Given the description of an element on the screen output the (x, y) to click on. 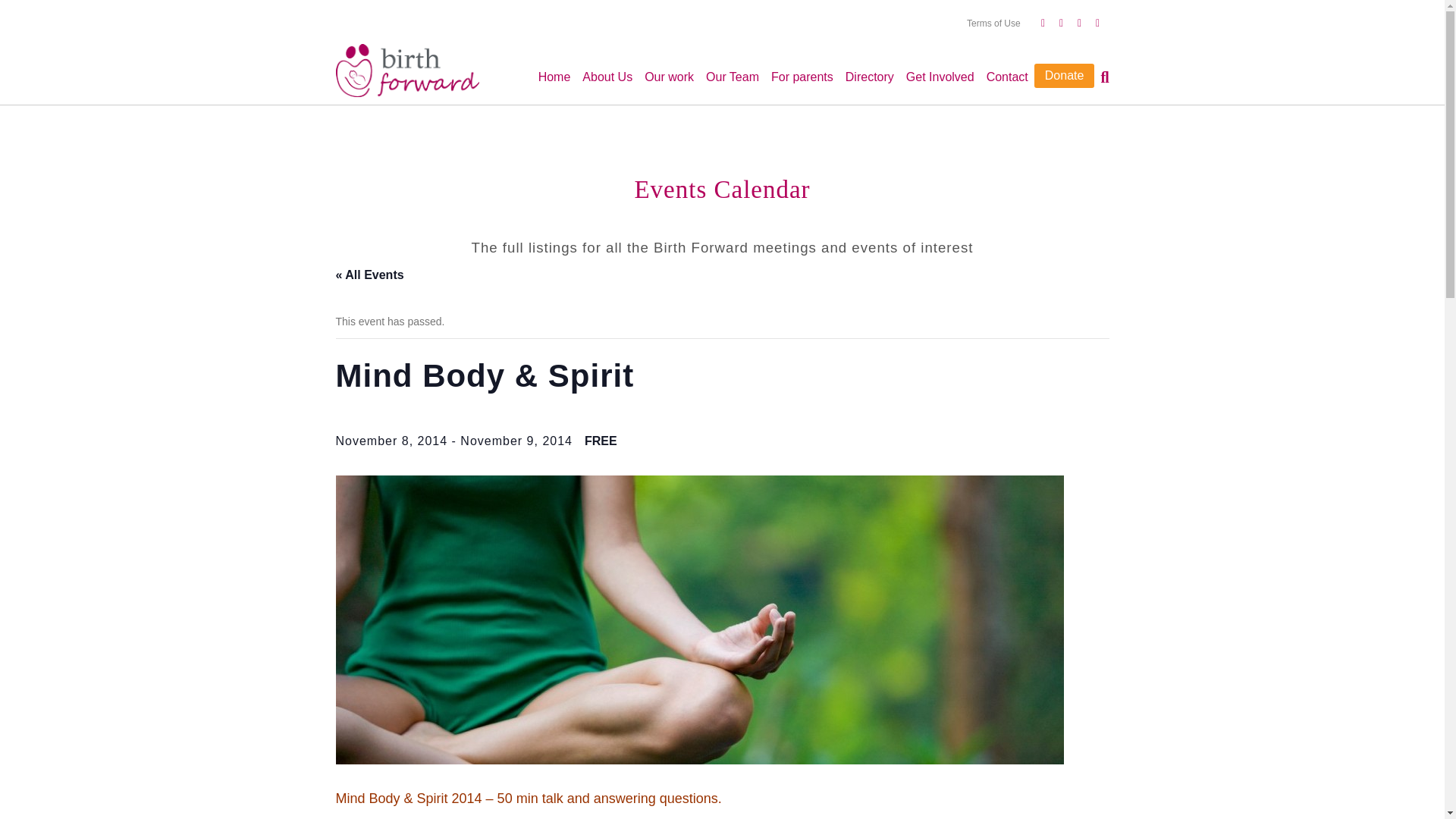
Facebook (1035, 22)
Our work (669, 77)
Youtube (1053, 22)
About Us (607, 77)
Instagram (1071, 22)
Terms of Use (993, 23)
Email (1090, 22)
Home (554, 77)
